Given the description of an element on the screen output the (x, y) to click on. 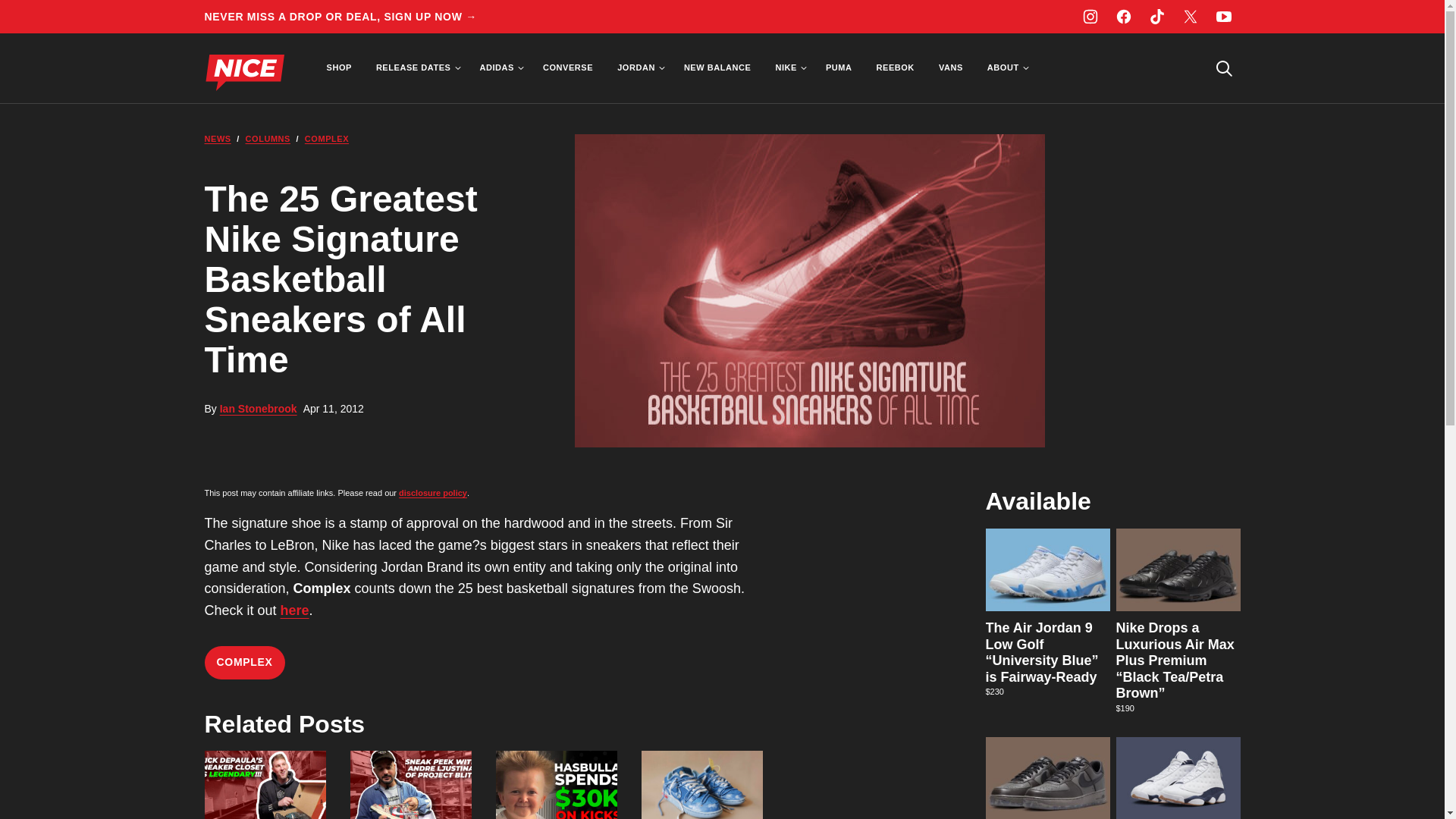
CONVERSE (568, 67)
RELEASE DATES (415, 67)
SHOP (338, 67)
ADIDAS (499, 67)
NEW BALANCE (716, 67)
Complex (294, 610)
JORDAN (638, 67)
